Given the description of an element on the screen output the (x, y) to click on. 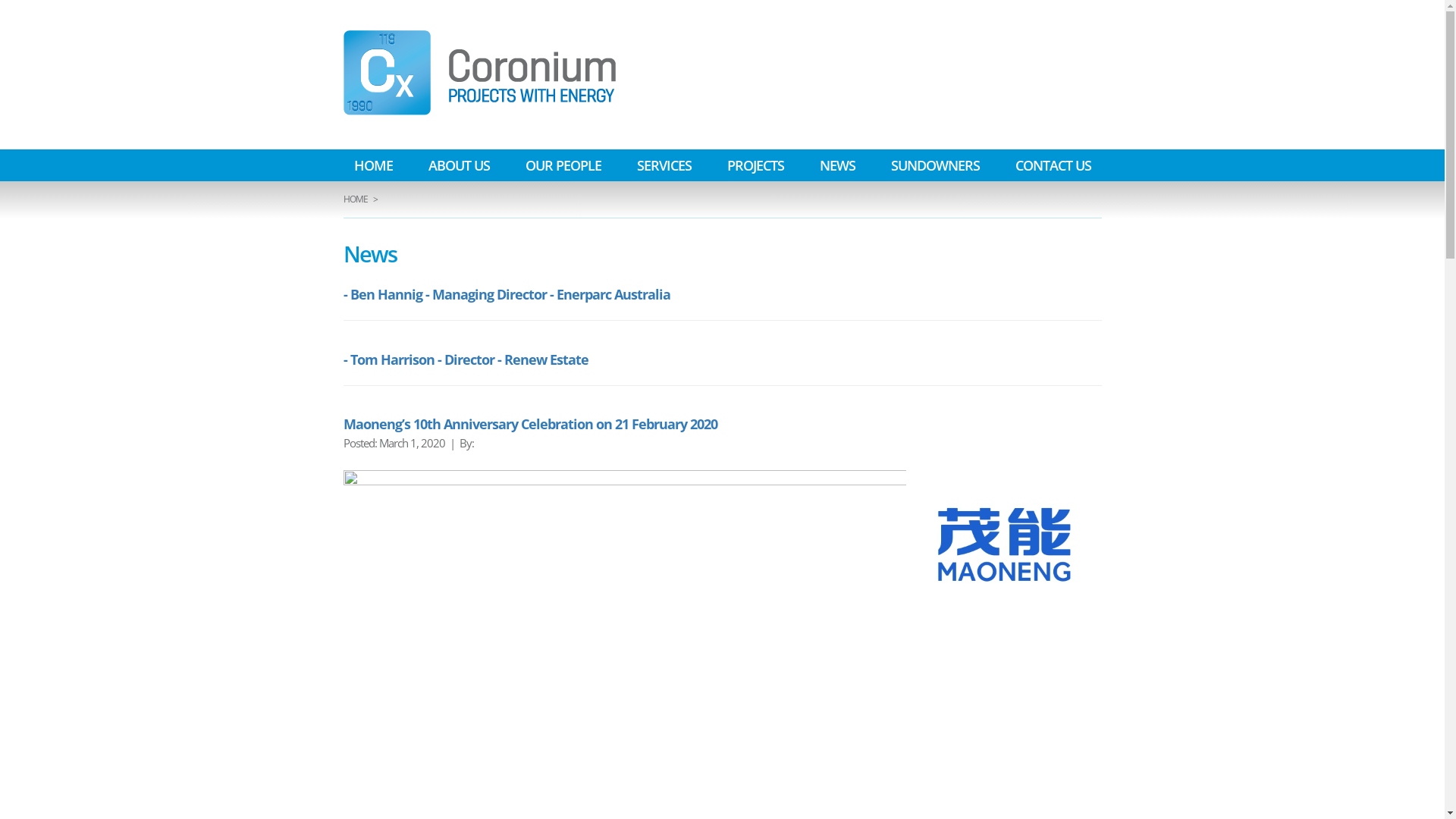
SUNDOWNERS Element type: text (934, 165)
- Ben Hannig - Managing Director - Enerparc Australia Element type: text (505, 294)
CONTACT US Element type: text (1052, 165)
- Tom Harrison - Director - Renew Estate Element type: text (464, 359)
ABOUT US Element type: text (458, 165)
OUR PEOPLE Element type: text (562, 165)
NEWS Element type: text (836, 165)
HOME Element type: text (372, 165)
HOME Element type: text (354, 199)
SERVICES Element type: text (664, 165)
PROJECTS Element type: text (754, 165)
